Given the description of an element on the screen output the (x, y) to click on. 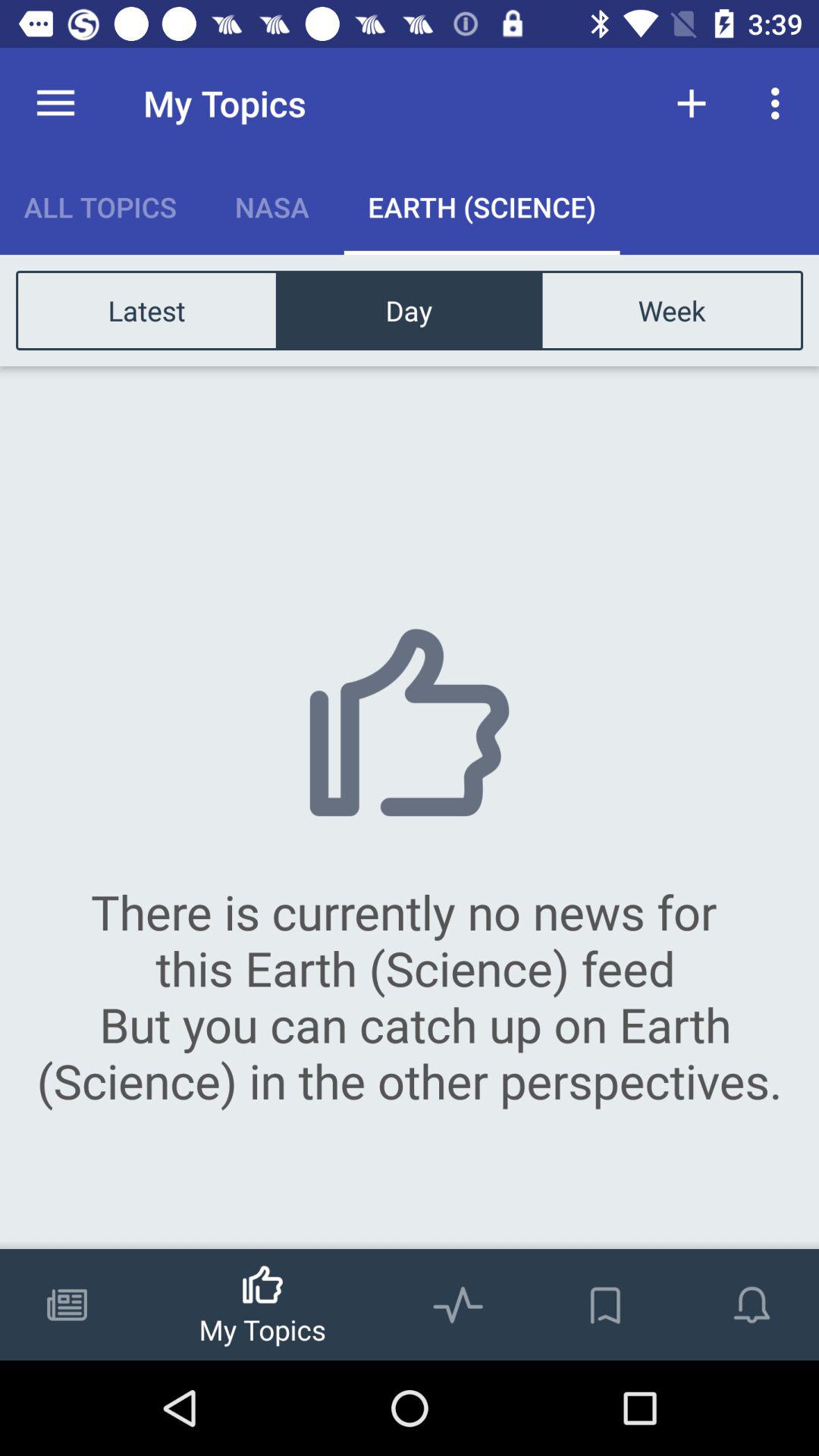
open icon above week icon (779, 103)
